Given the description of an element on the screen output the (x, y) to click on. 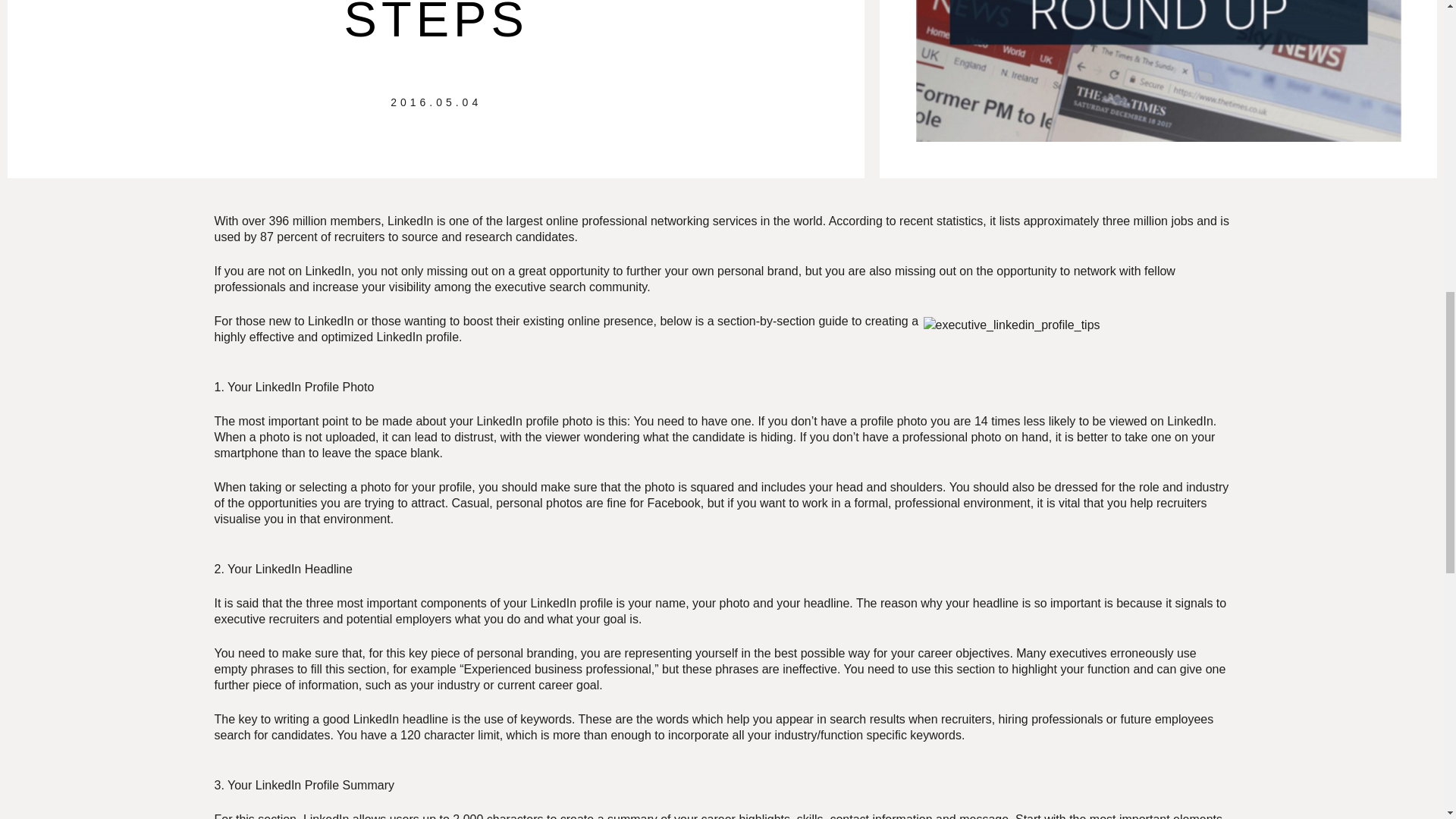
MAKE YOUR LINKEDIN PROFILE MORE POWERFUL IN FIVE EASY STEPS (435, 24)
